Given the description of an element on the screen output the (x, y) to click on. 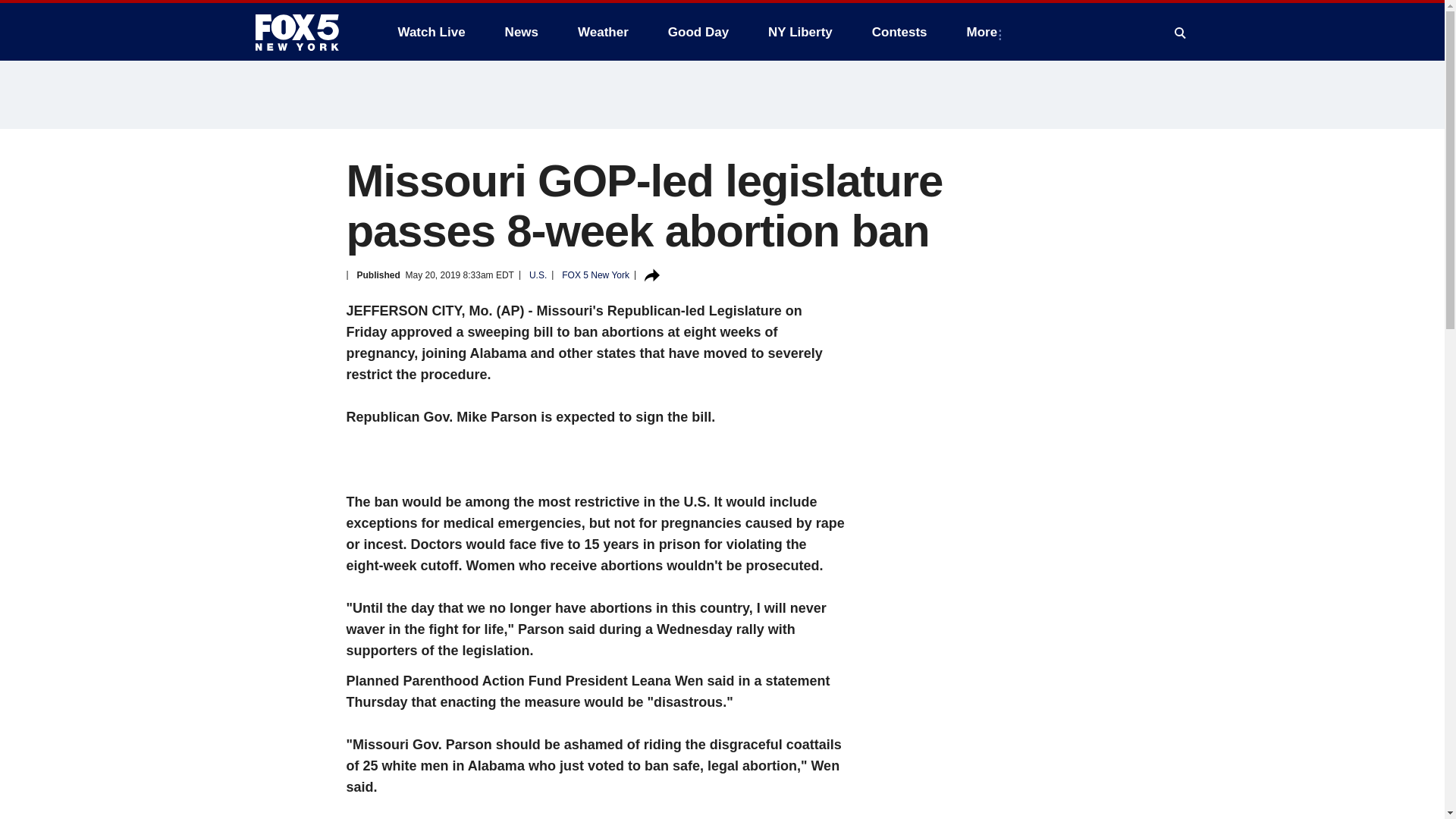
More (985, 32)
News (521, 32)
Watch Live (431, 32)
Weather (603, 32)
Contests (899, 32)
Good Day (698, 32)
NY Liberty (799, 32)
